Given the description of an element on the screen output the (x, y) to click on. 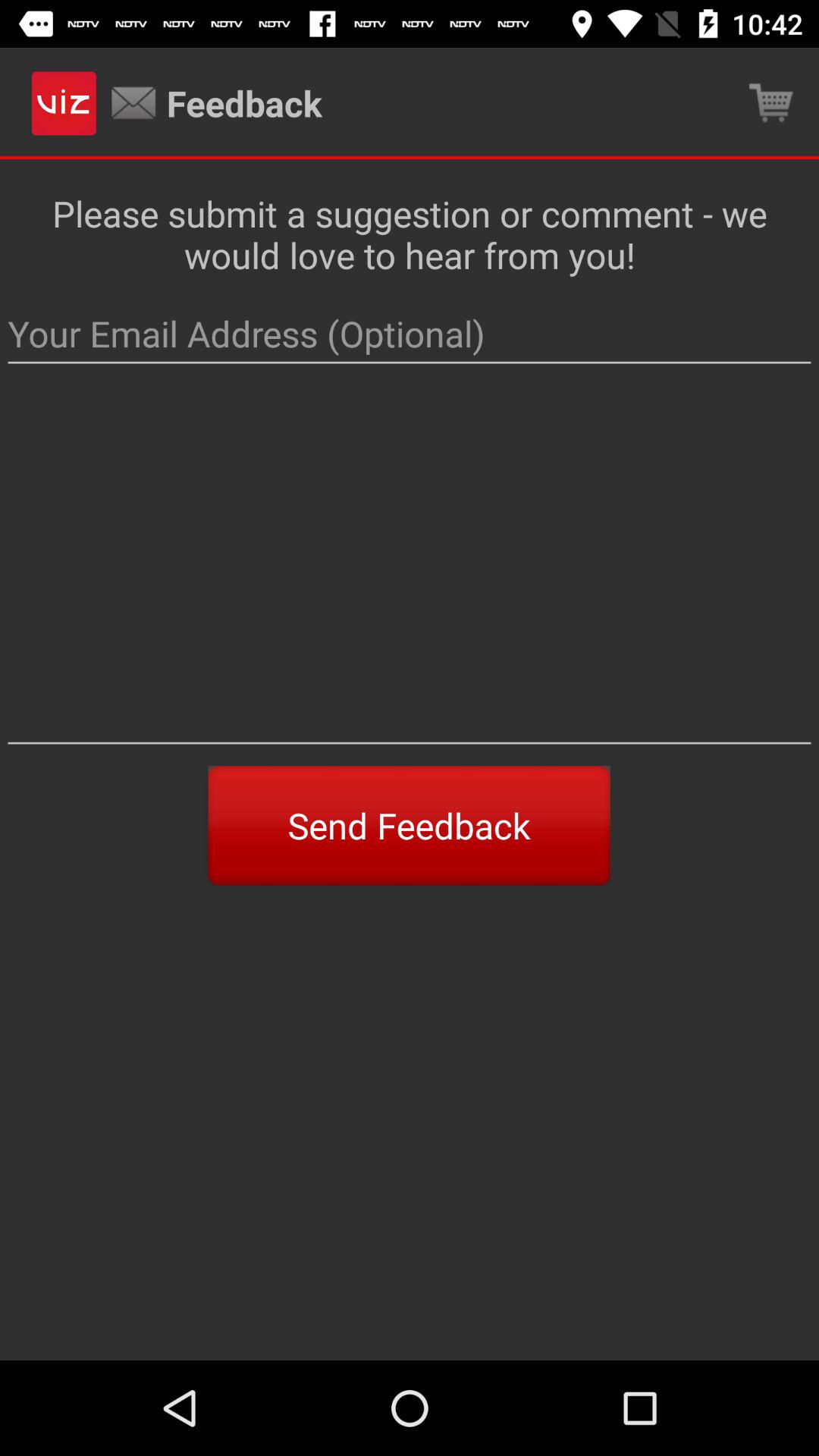
select item to the right of the  feedback item (771, 103)
